Given the description of an element on the screen output the (x, y) to click on. 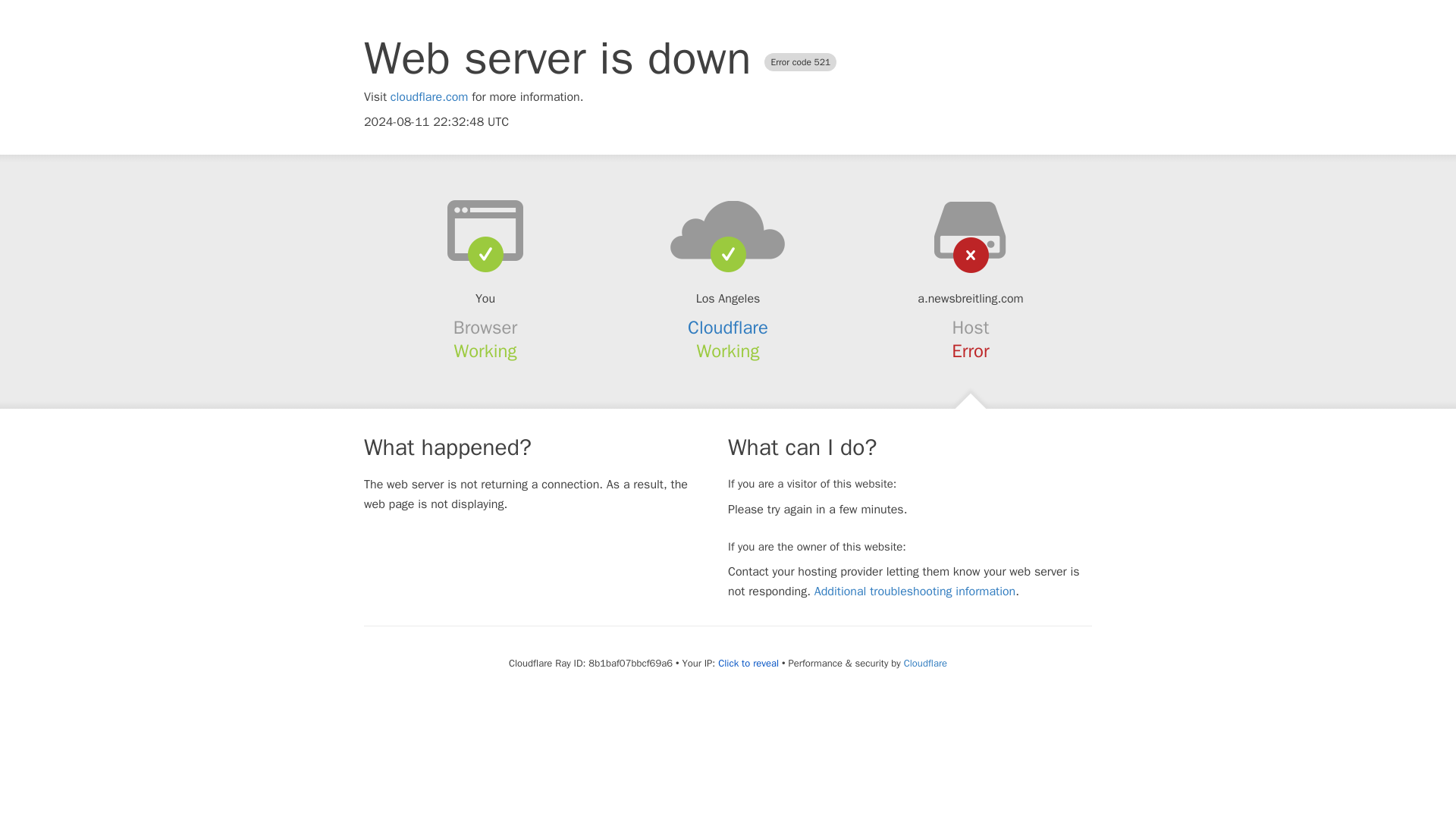
cloudflare.com (429, 96)
Click to reveal (747, 663)
Additional troubleshooting information (913, 590)
Cloudflare (727, 327)
Cloudflare (925, 662)
